Given the description of an element on the screen output the (x, y) to click on. 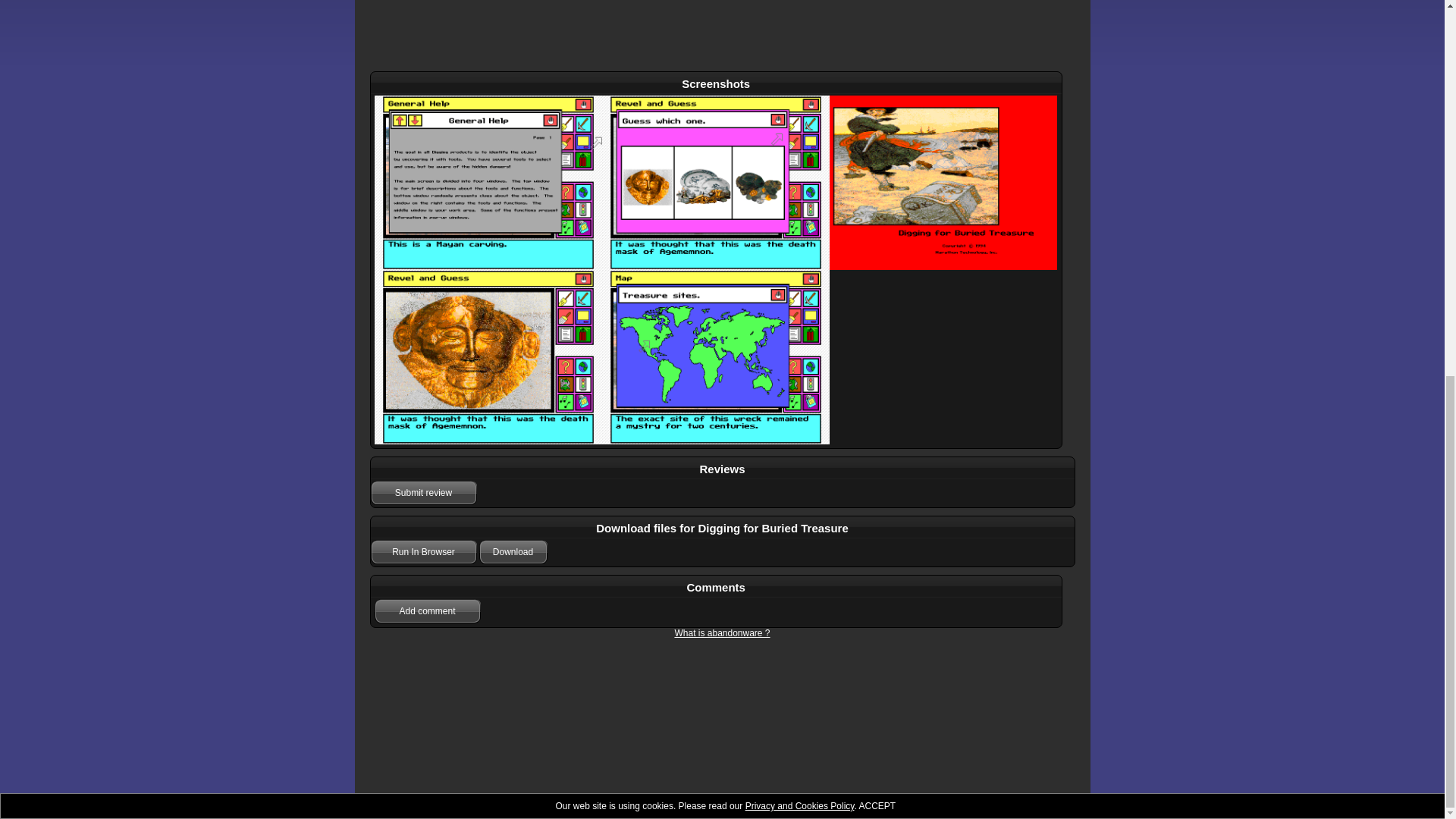
What is abandonware ? (722, 633)
Privacy and Cookies Policy (799, 112)
Add comment (427, 610)
ACCEPT (877, 112)
Submit review (422, 492)
Advertisement (722, 31)
Download (513, 551)
Run In Browser (422, 551)
